Given the description of an element on the screen output the (x, y) to click on. 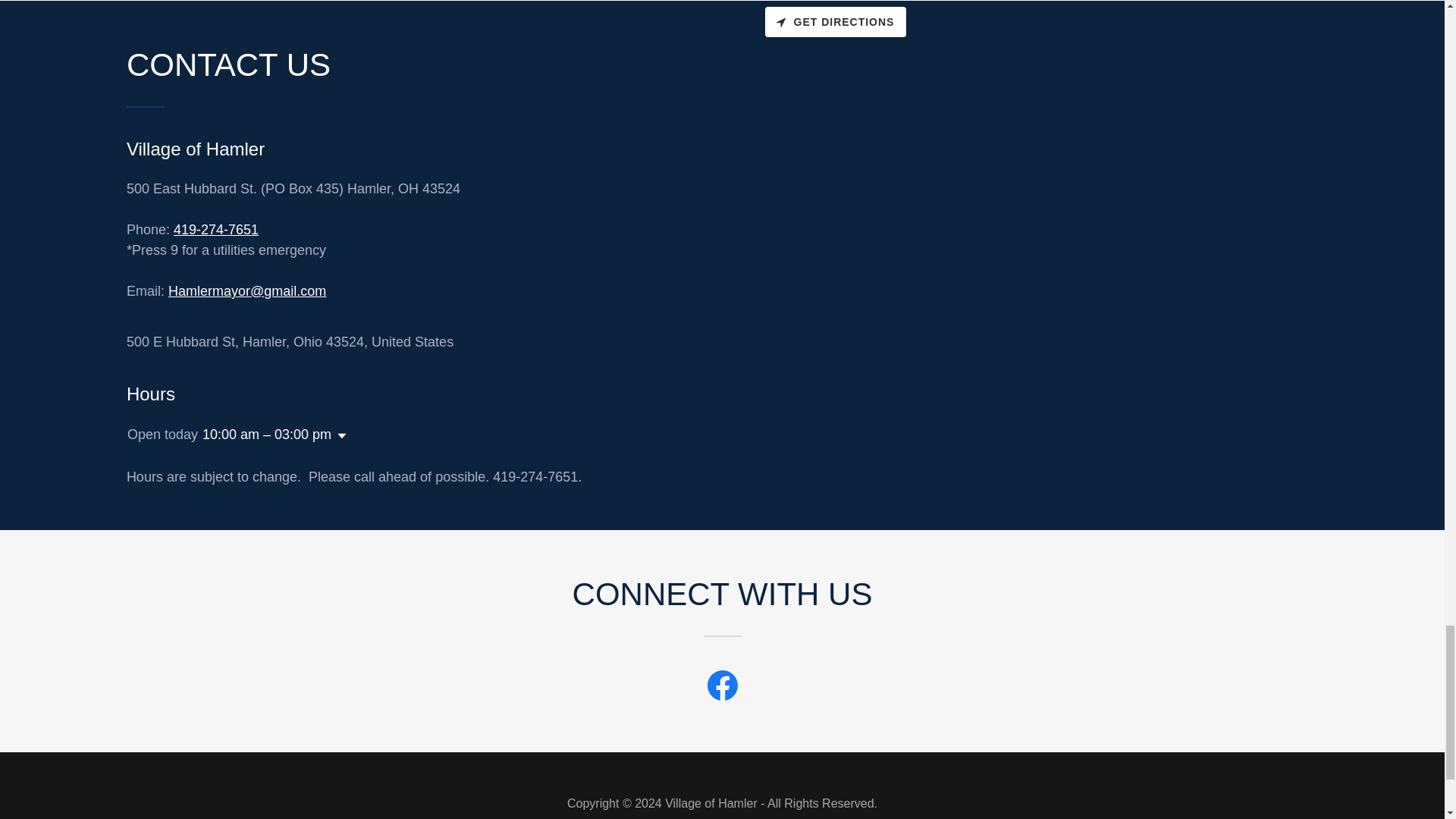
419-274-7651 (216, 229)
